Given the description of an element on the screen output the (x, y) to click on. 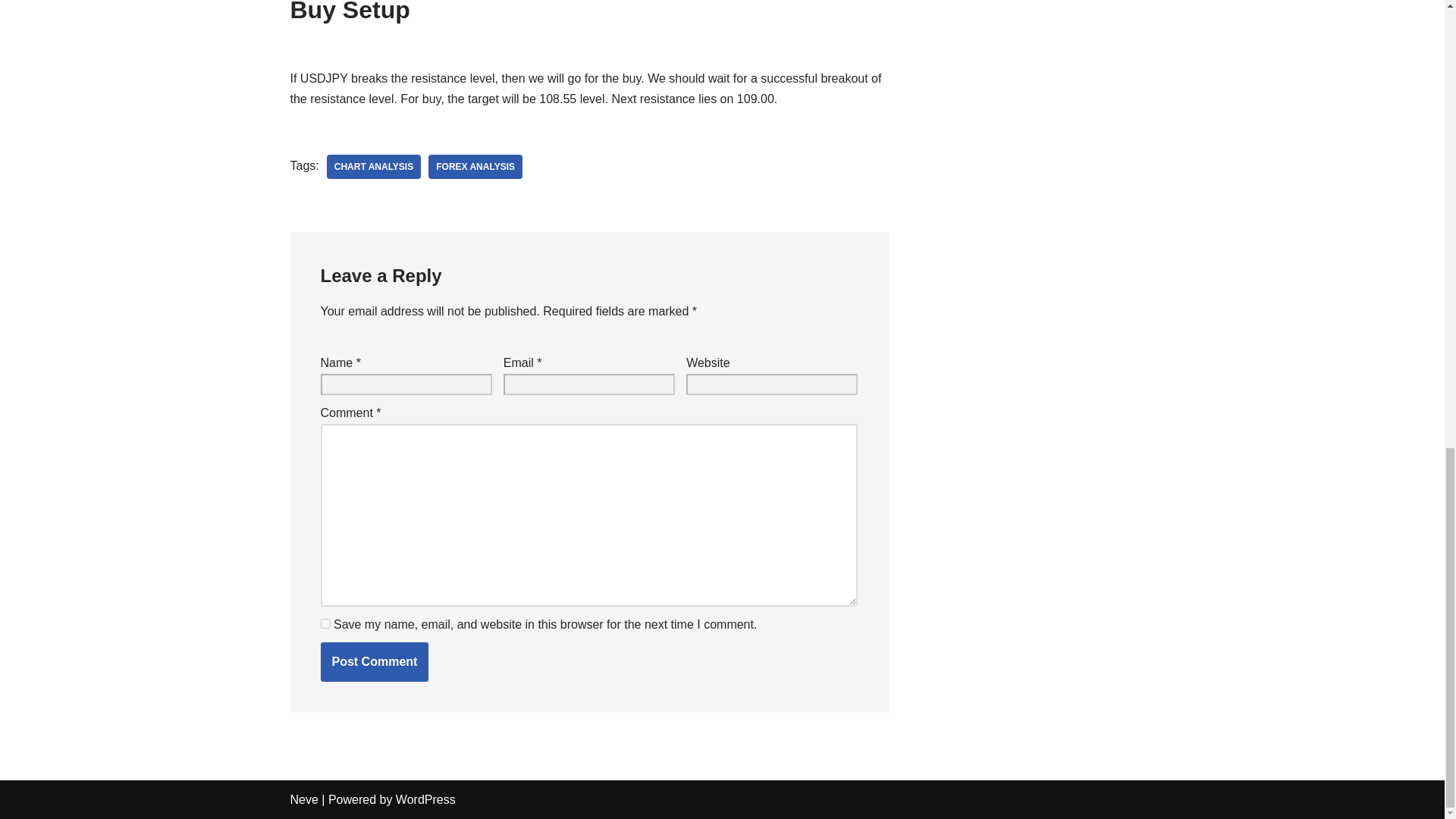
CHART ANALYSIS (373, 166)
Post Comment (374, 661)
FOREX ANALYSIS (475, 166)
chart analysis (373, 166)
Post Comment (374, 661)
forex analysis (475, 166)
yes (325, 623)
